Given the description of an element on the screen output the (x, y) to click on. 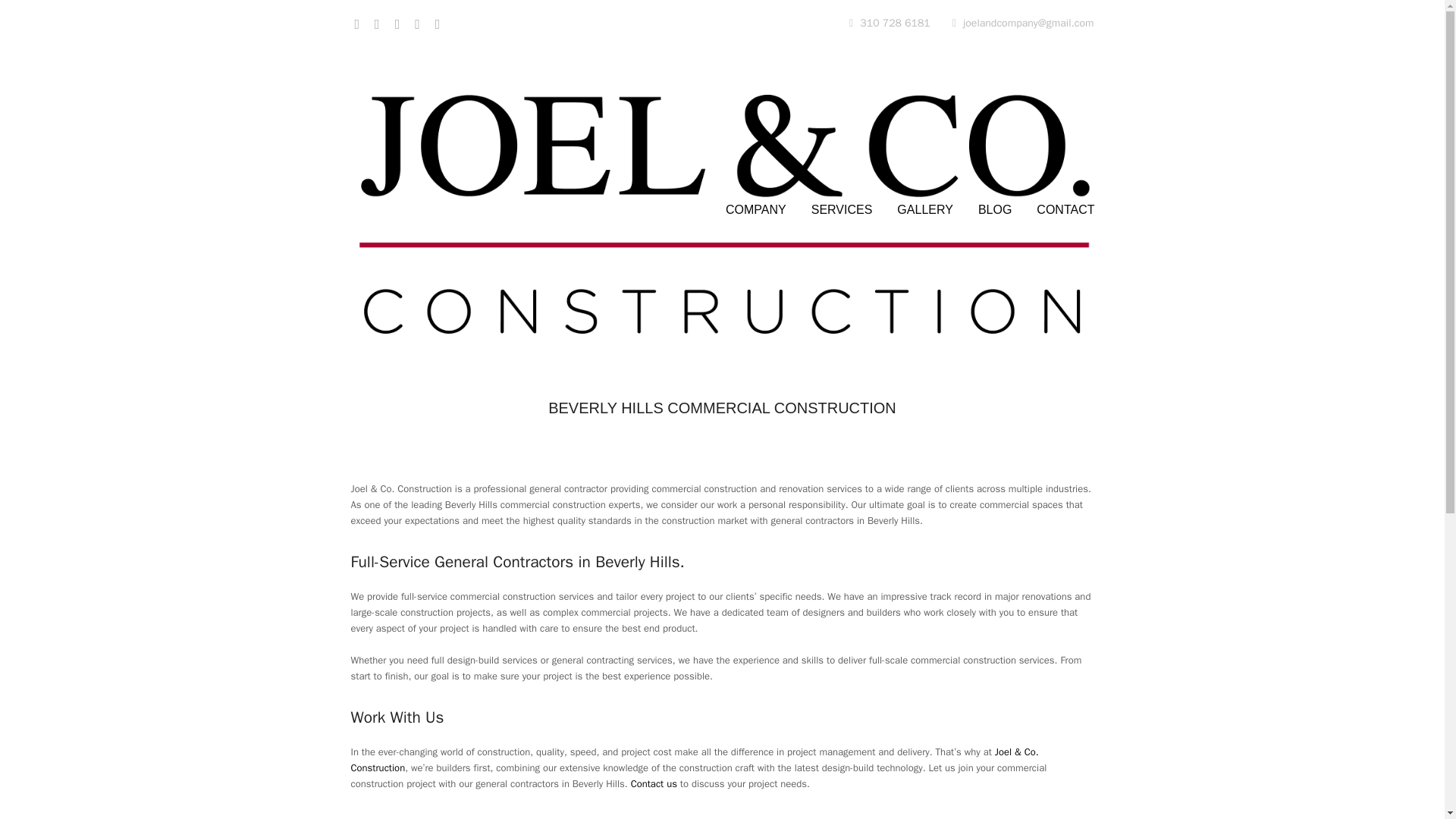
SERVICES (841, 210)
Contact us (653, 783)
COMPANY (755, 210)
BLOG (995, 210)
310 728 6181 (889, 22)
GALLERY (924, 210)
CONTACT (1065, 210)
